Given the description of an element on the screen output the (x, y) to click on. 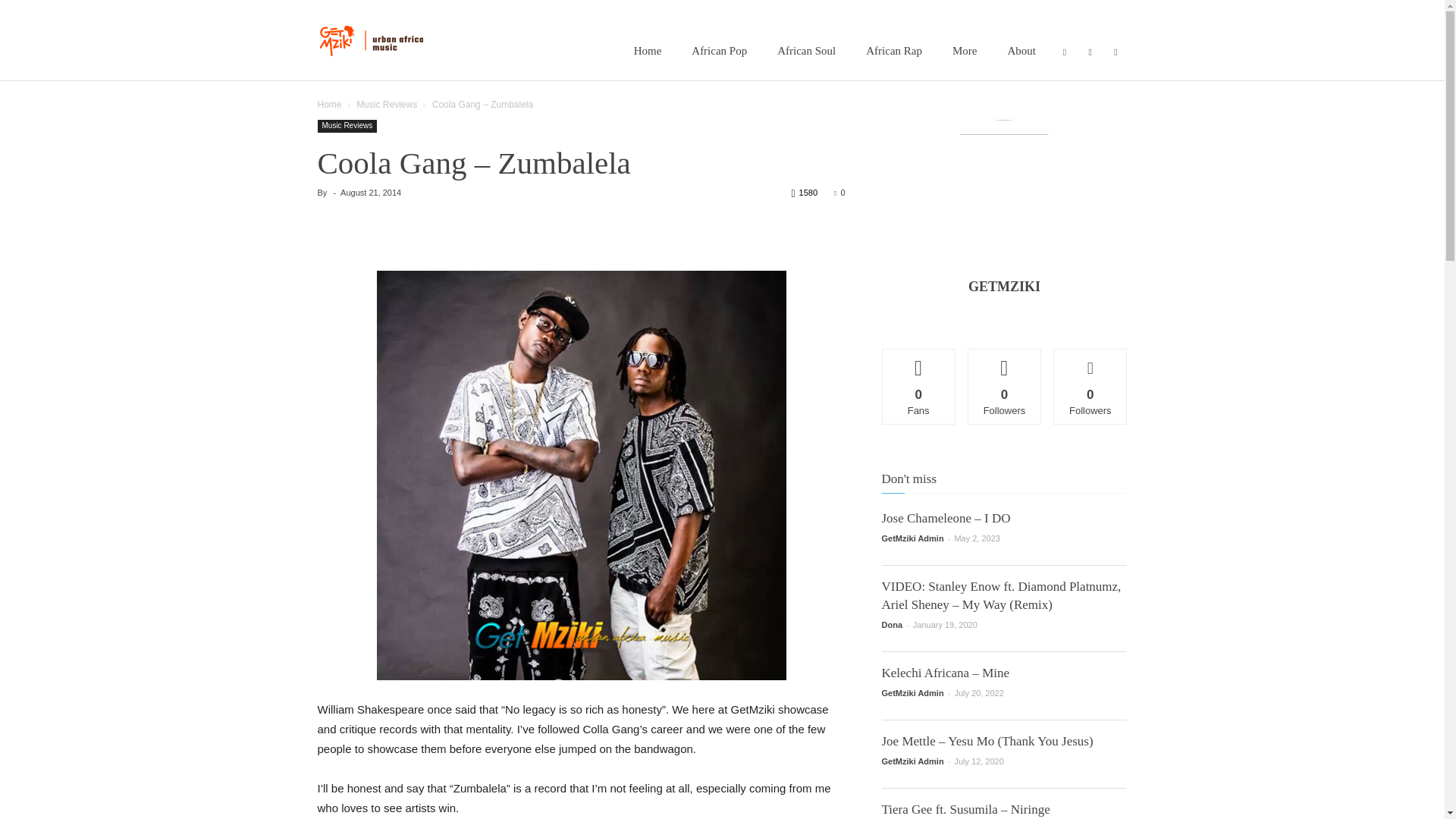
African Pop (719, 50)
Home (647, 50)
GetMziki (377, 39)
